Given the description of an element on the screen output the (x, y) to click on. 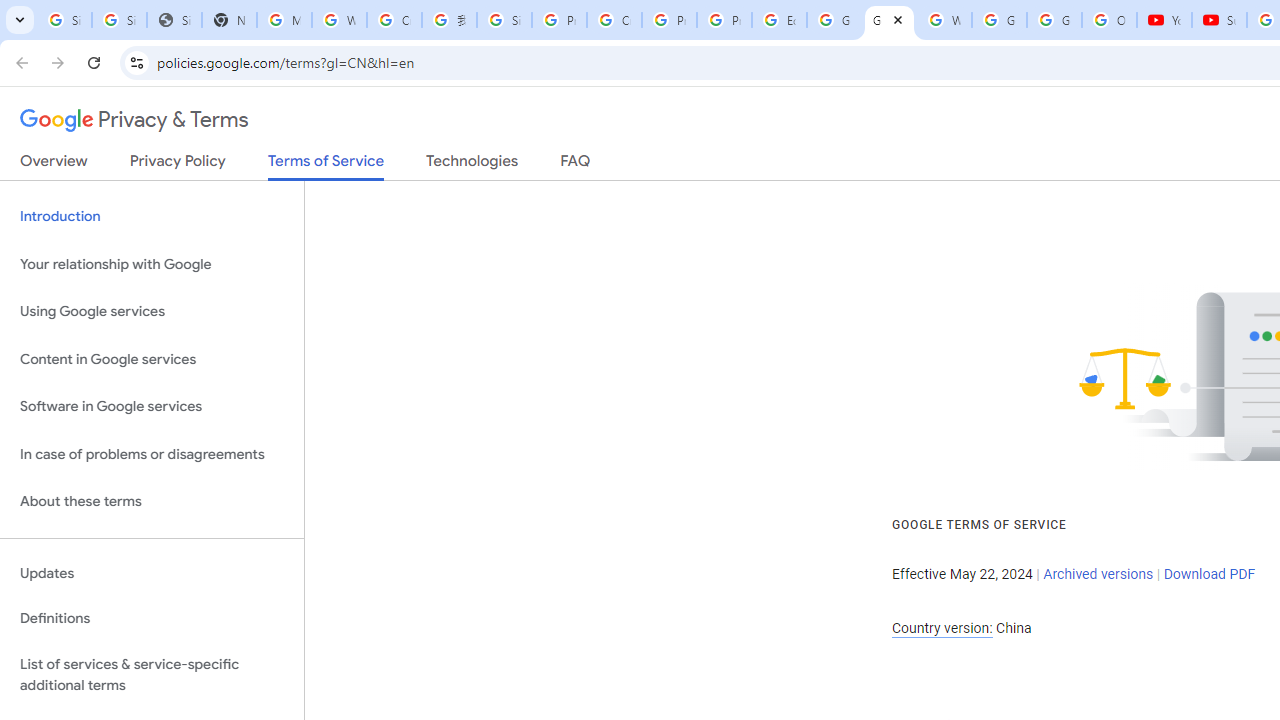
In case of problems or disagreements (152, 453)
About these terms (152, 502)
Sign in - Google Accounts (504, 20)
Terms of Service (326, 166)
FAQ (575, 165)
Content in Google services (152, 358)
Technologies (472, 165)
